Given the description of an element on the screen output the (x, y) to click on. 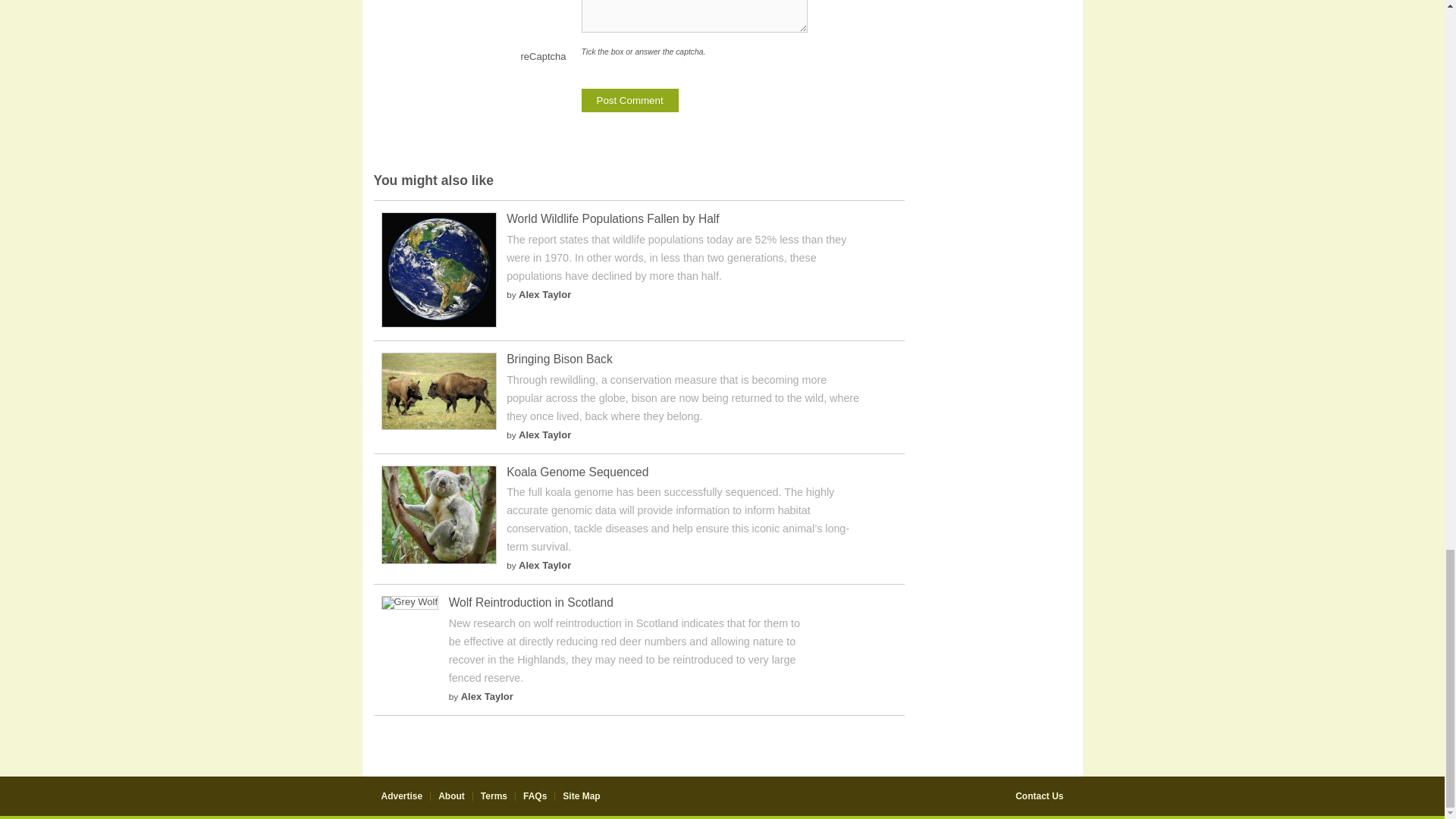
Post Comment (629, 100)
FAQs (534, 796)
About Us (451, 796)
Post Comment (629, 100)
About (451, 796)
Terms (493, 796)
Contact Us (1038, 796)
Bringing Bison Back (559, 358)
World Wildlife Populations Fallen by Half (438, 324)
Post Comment (629, 100)
Wolf Reintroduction in Scotland (409, 601)
Bringing Bison Back (438, 426)
Wolf Reintroduction in Scotland (530, 602)
Koala Genome Sequenced (576, 472)
Koala Genome Sequenced (576, 472)
